Given the description of an element on the screen output the (x, y) to click on. 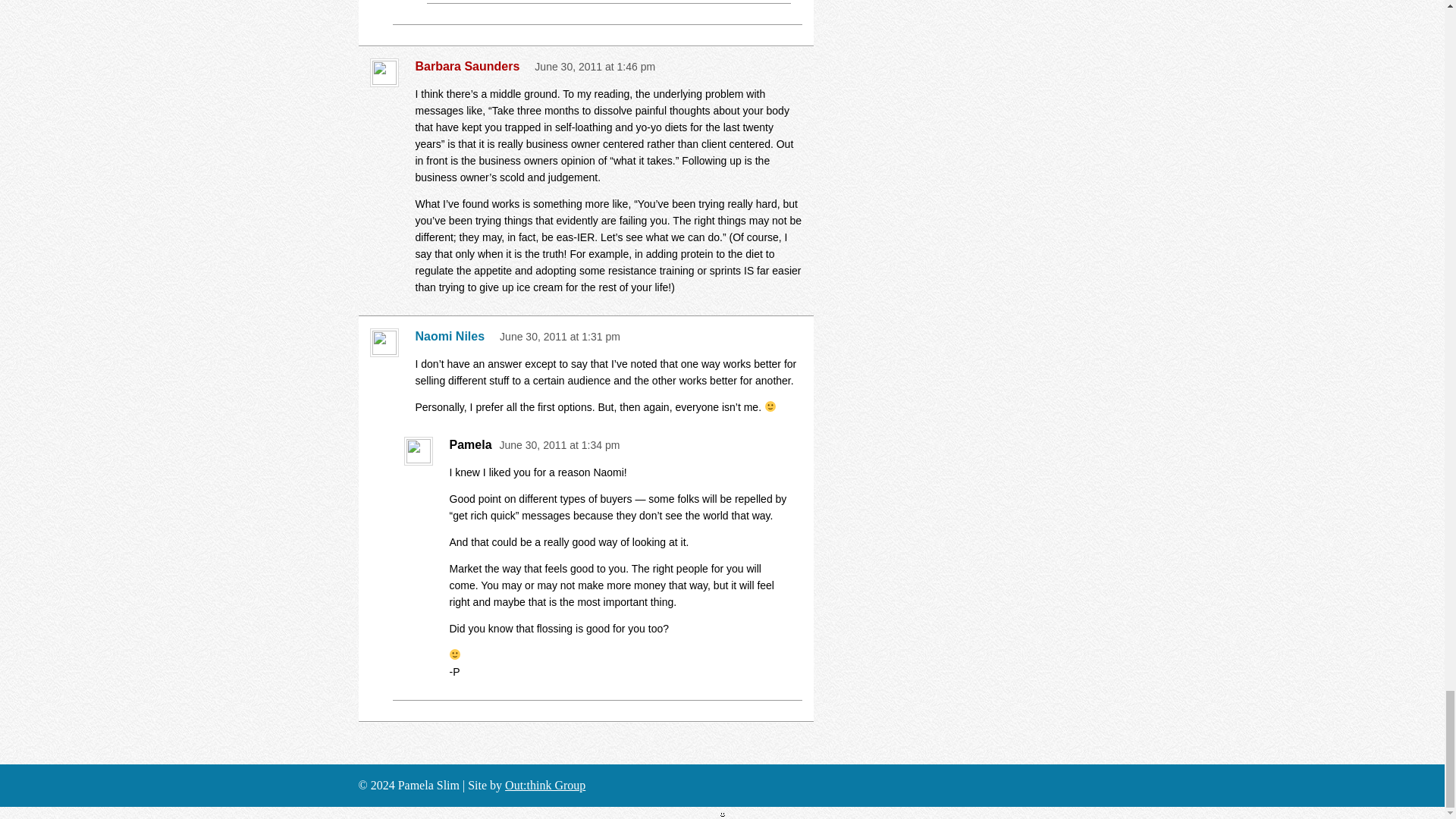
Out:think - Marketing for Authors (545, 784)
